Given the description of an element on the screen output the (x, y) to click on. 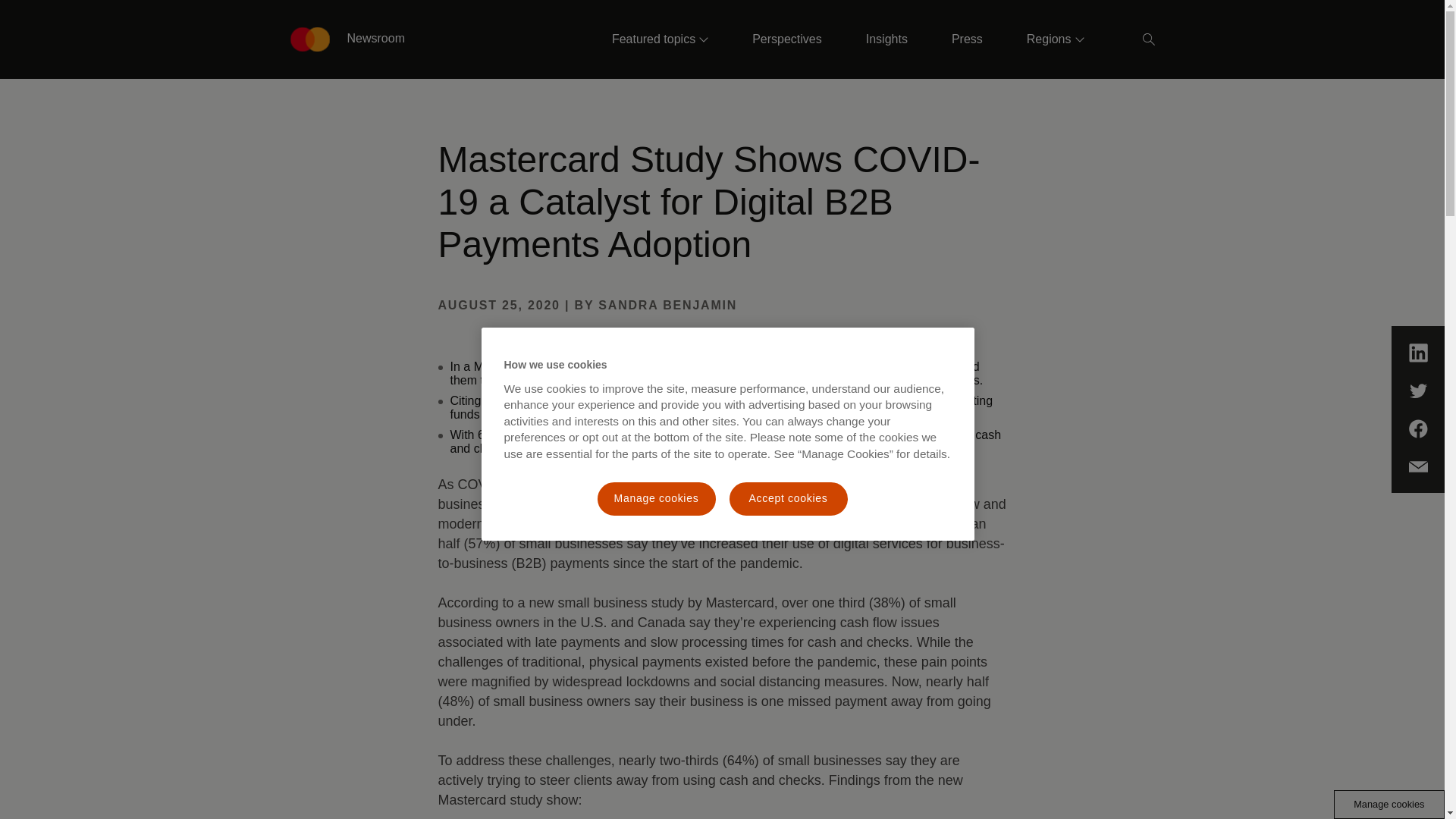
Perspectives (786, 39)
Newsroom (346, 39)
Featured topics (659, 39)
